Given the description of an element on the screen output the (x, y) to click on. 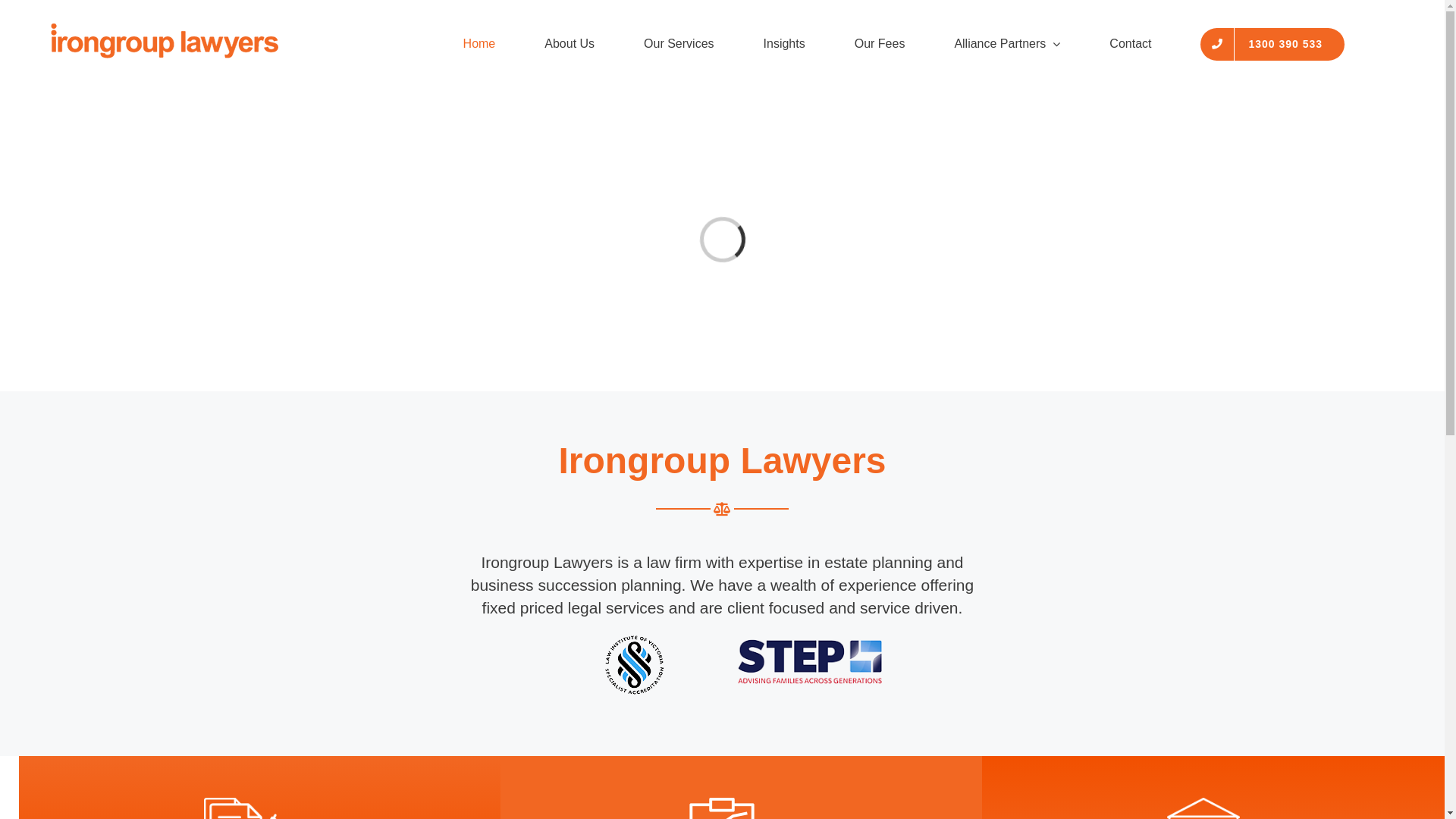
Alliance Partners Element type: text (1006, 43)
Insights Element type: text (784, 43)
Home Element type: text (479, 43)
About Us Element type: text (569, 43)
Contact Element type: text (1130, 43)
Our Fees Element type: text (879, 43)
Our Services Element type: text (678, 43)
1300 390 533 Element type: text (1272, 43)
STEP_Logo_small Element type: hover (809, 660)
